Given the description of an element on the screen output the (x, y) to click on. 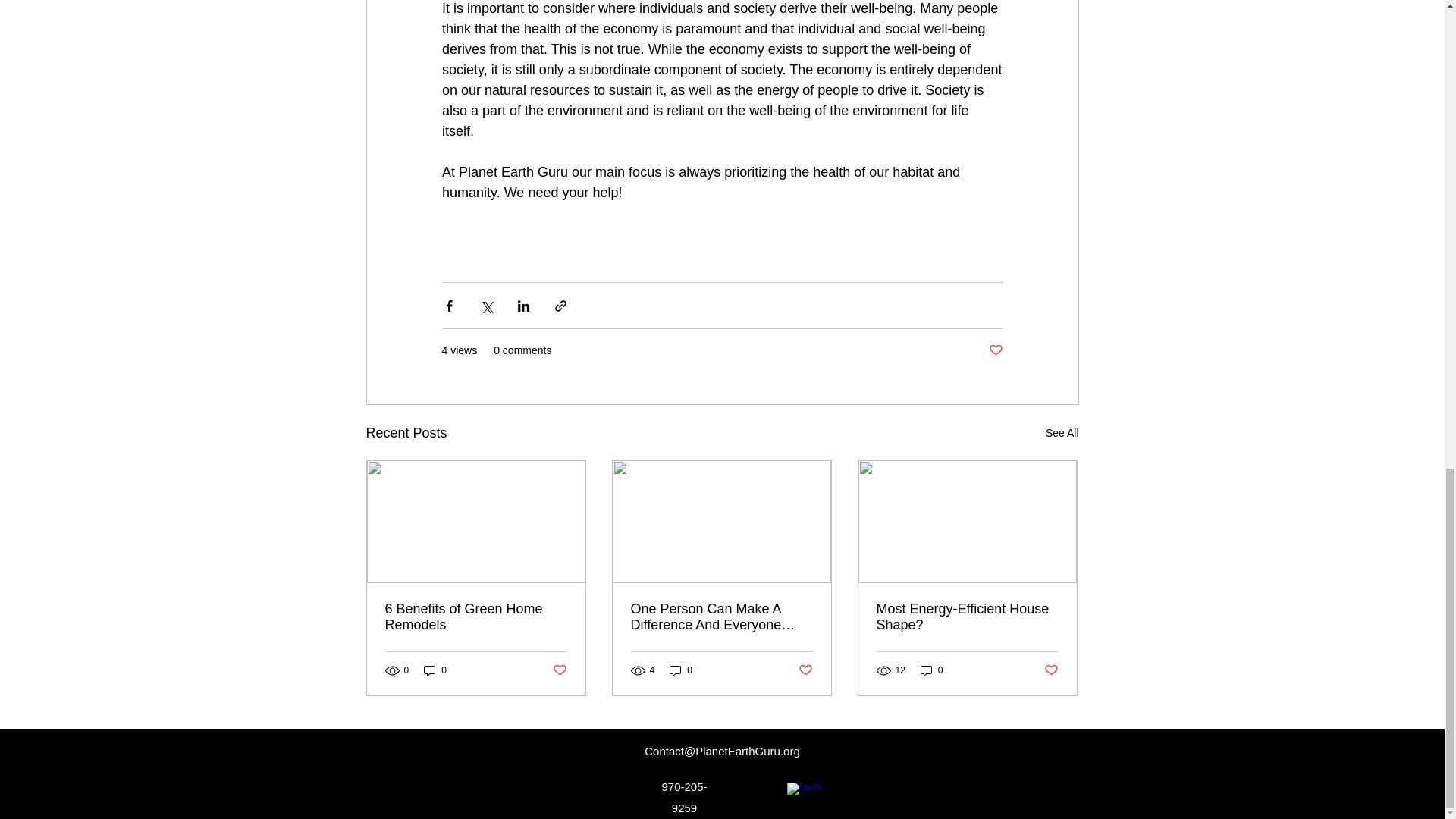
One Person Can Make A Difference And Everyone Should Try (721, 617)
Post not marked as liked (558, 670)
0 (681, 670)
6 Benefits of Green Home Remodels (476, 617)
Post not marked as liked (1050, 670)
Post not marked as liked (995, 350)
See All (1061, 433)
0 (435, 670)
0 (931, 670)
Most Energy-Efficient House Shape? (967, 617)
